Given the description of an element on the screen output the (x, y) to click on. 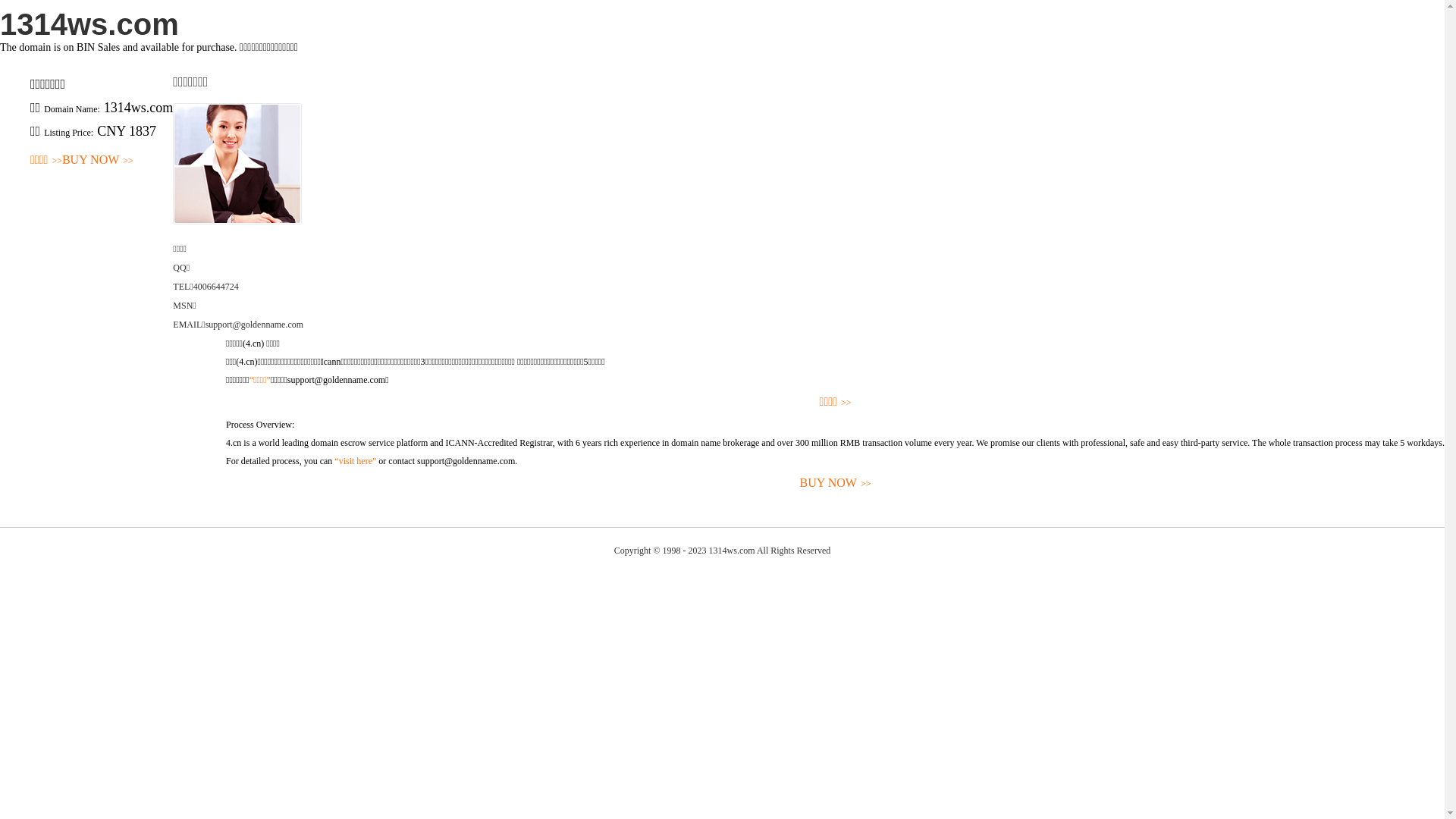
BUY NOW>> Element type: text (97, 160)
BUY NOW>> Element type: text (834, 483)
